Given the description of an element on the screen output the (x, y) to click on. 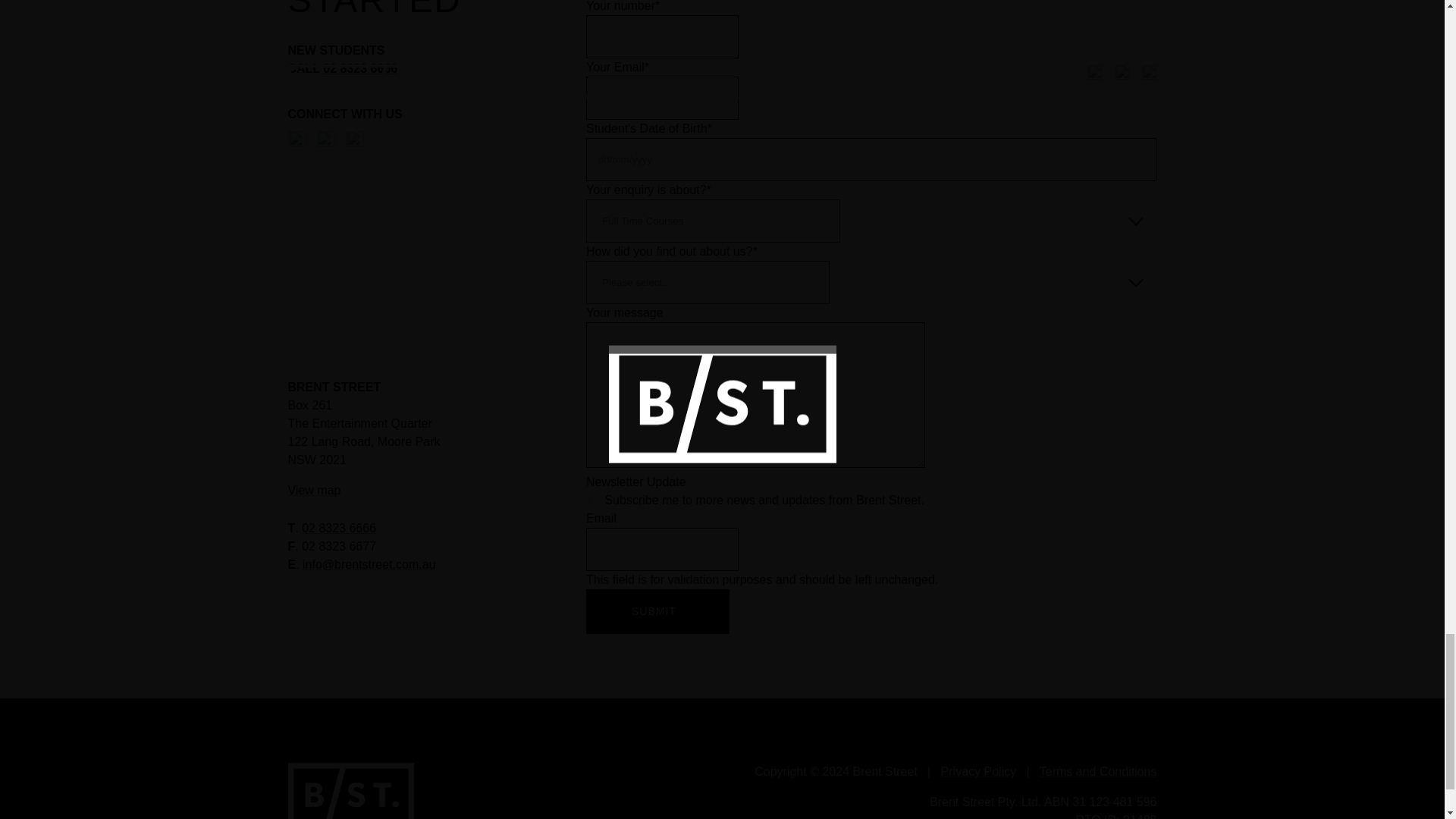
Subscribe me to more news and updates from Brent Street. (593, 499)
brent-street-logomark-reversed (350, 790)
Submit (657, 610)
